Given the description of an element on the screen output the (x, y) to click on. 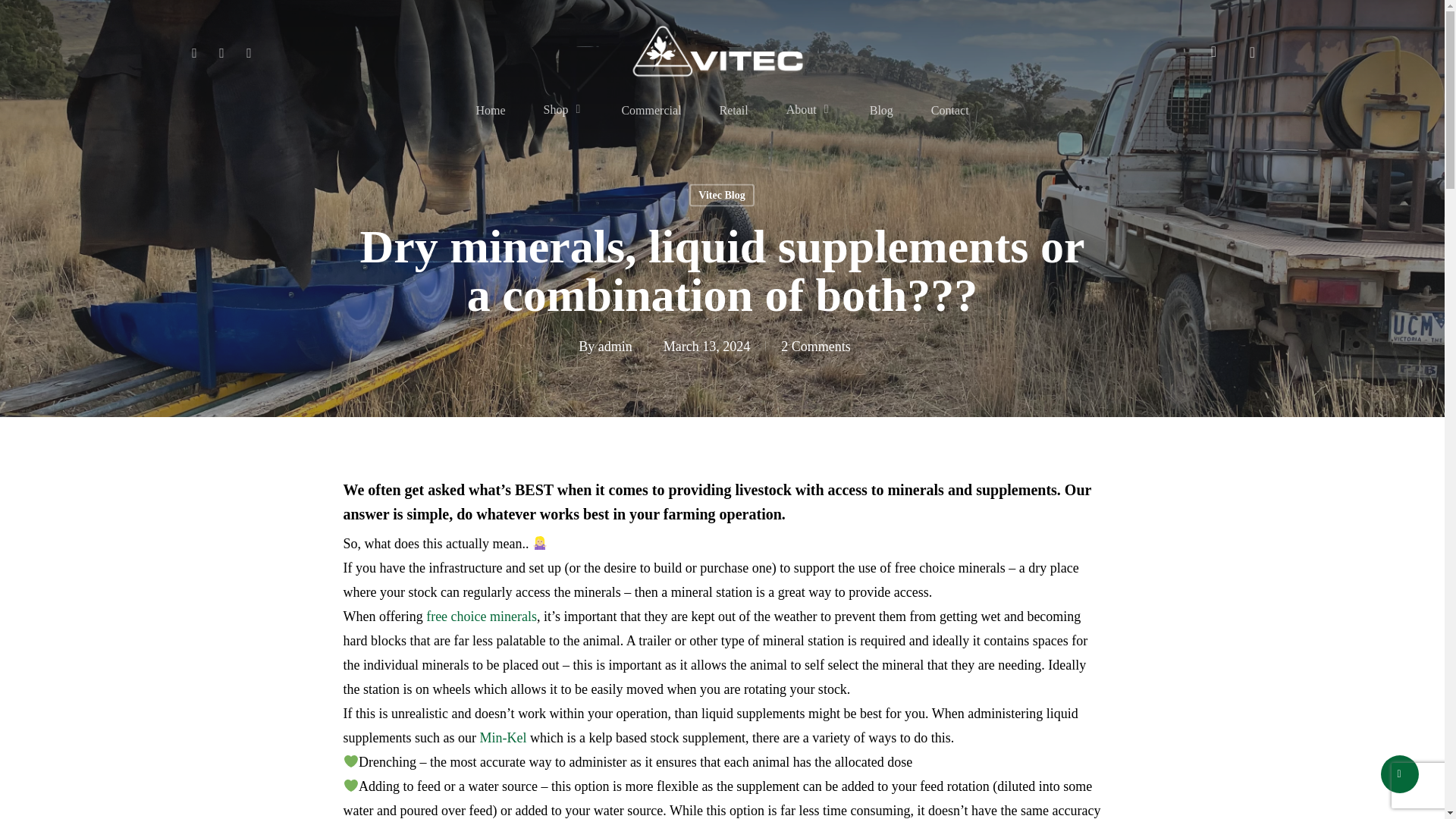
Contact (950, 110)
Email (248, 51)
Min-Kel (502, 737)
Shop (563, 110)
Commercial (651, 110)
Posts by admin (614, 345)
Phone (221, 51)
Vitec Blog (721, 194)
About (808, 110)
search (1213, 51)
2 Comments (815, 345)
Retail (733, 110)
free choice minerals (481, 616)
Home (490, 110)
Facebook (194, 51)
